Given the description of an element on the screen output the (x, y) to click on. 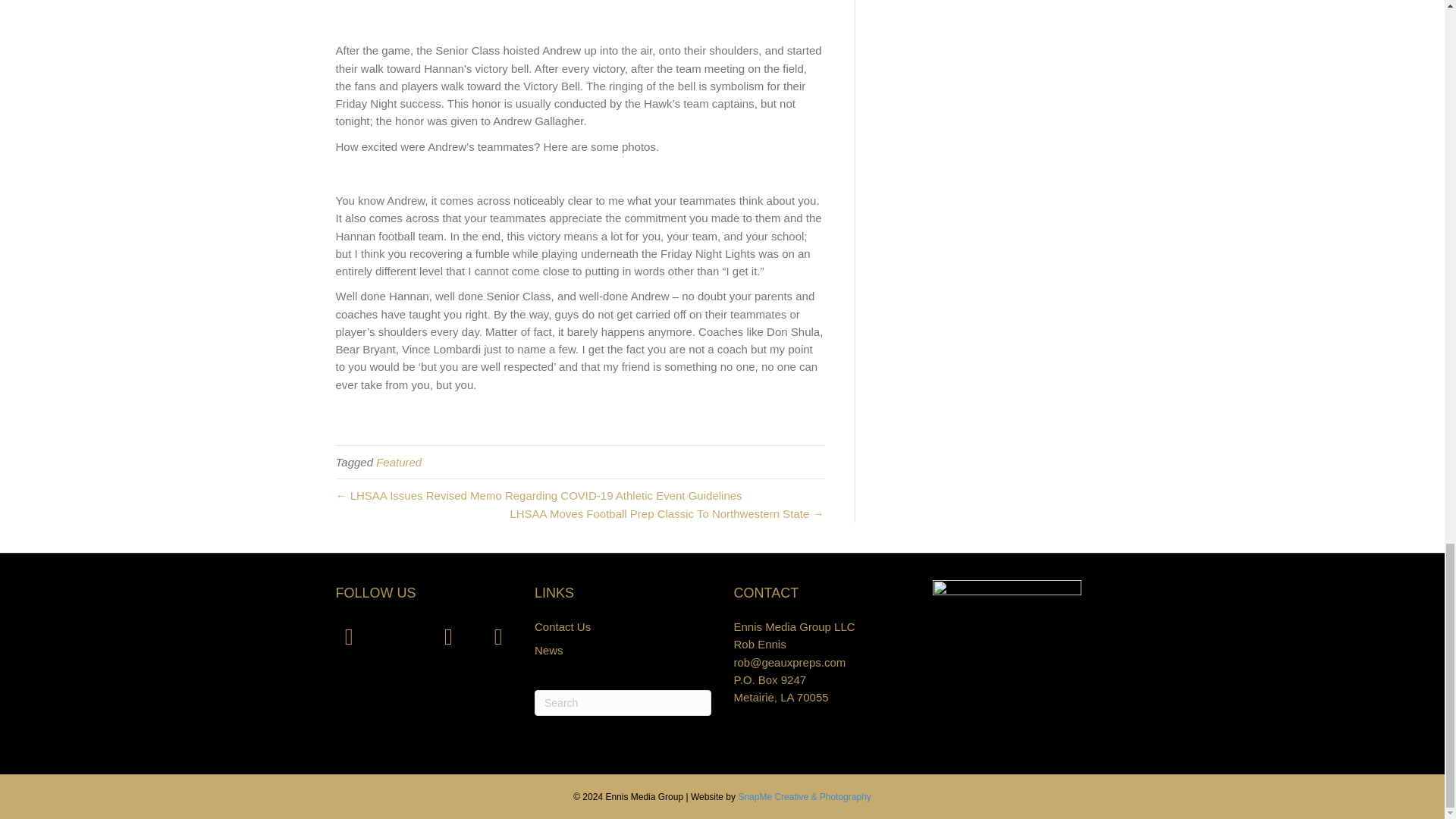
Featured (398, 461)
Contact Us (562, 626)
Type and press Enter to search. (622, 702)
News (548, 649)
